Given the description of an element on the screen output the (x, y) to click on. 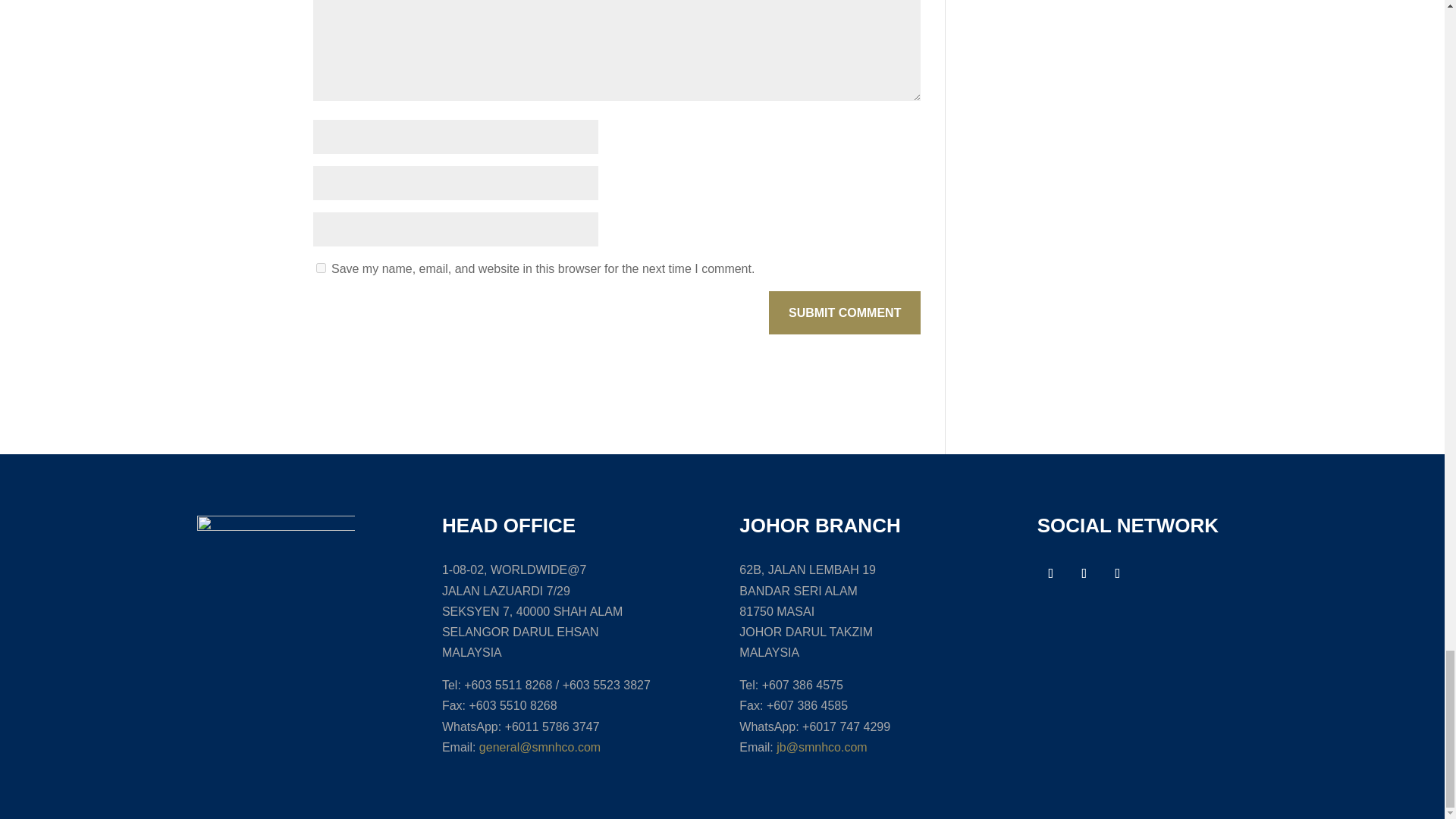
Submit Comment (844, 312)
yes (319, 267)
Follow on Instagram (1117, 573)
Follow on Facebook (1050, 573)
SMNHCOWhite250px (275, 573)
Follow on Twitter (1083, 573)
Submit Comment (844, 312)
